Given the description of an element on the screen output the (x, y) to click on. 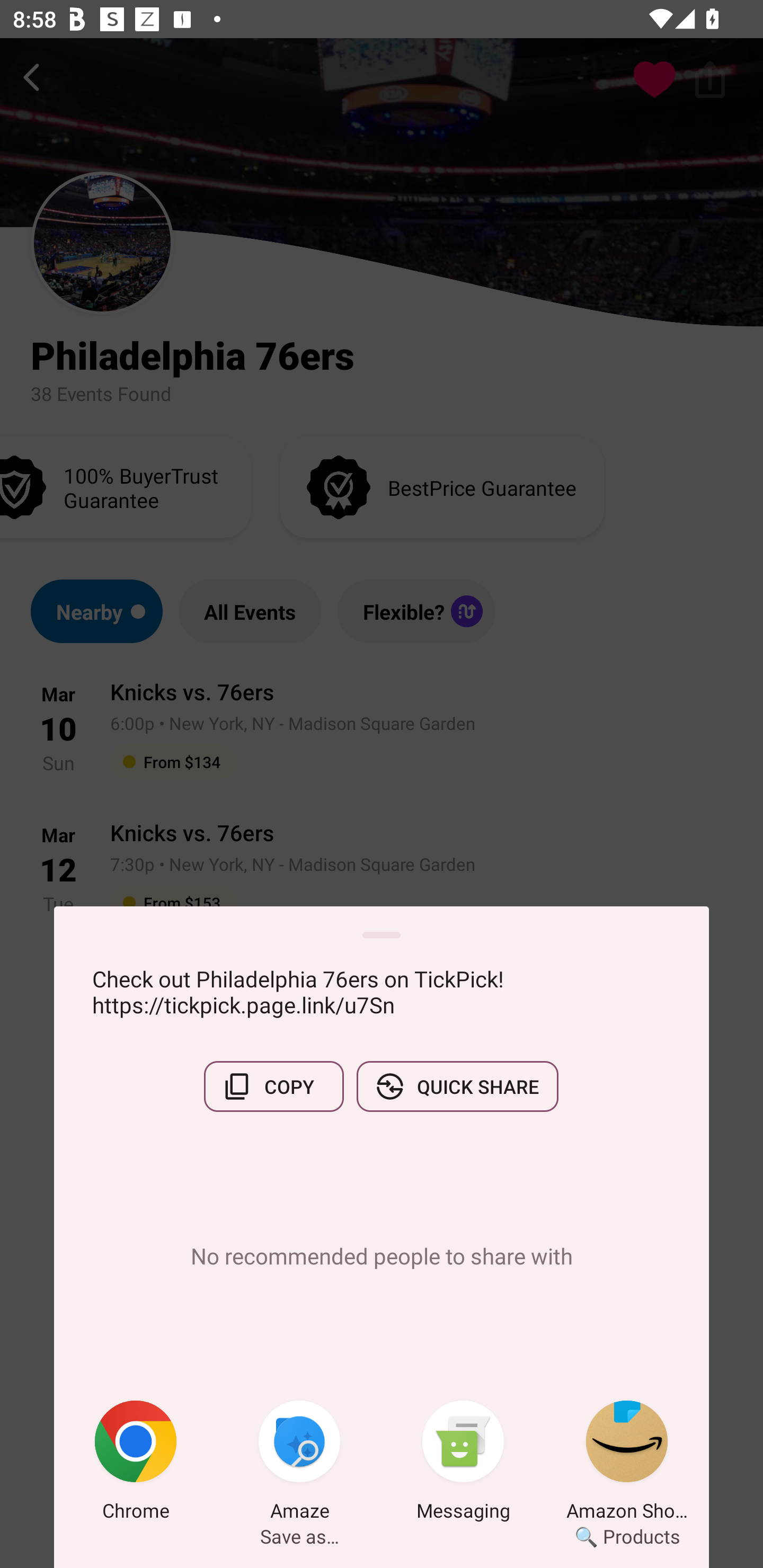
COPY (273, 1086)
QUICK SHARE (457, 1086)
Chrome (135, 1463)
Amaze Save as… (299, 1463)
Messaging (463, 1463)
Amazon Shopping 🔍 Products (626, 1463)
